Given the description of an element on the screen output the (x, y) to click on. 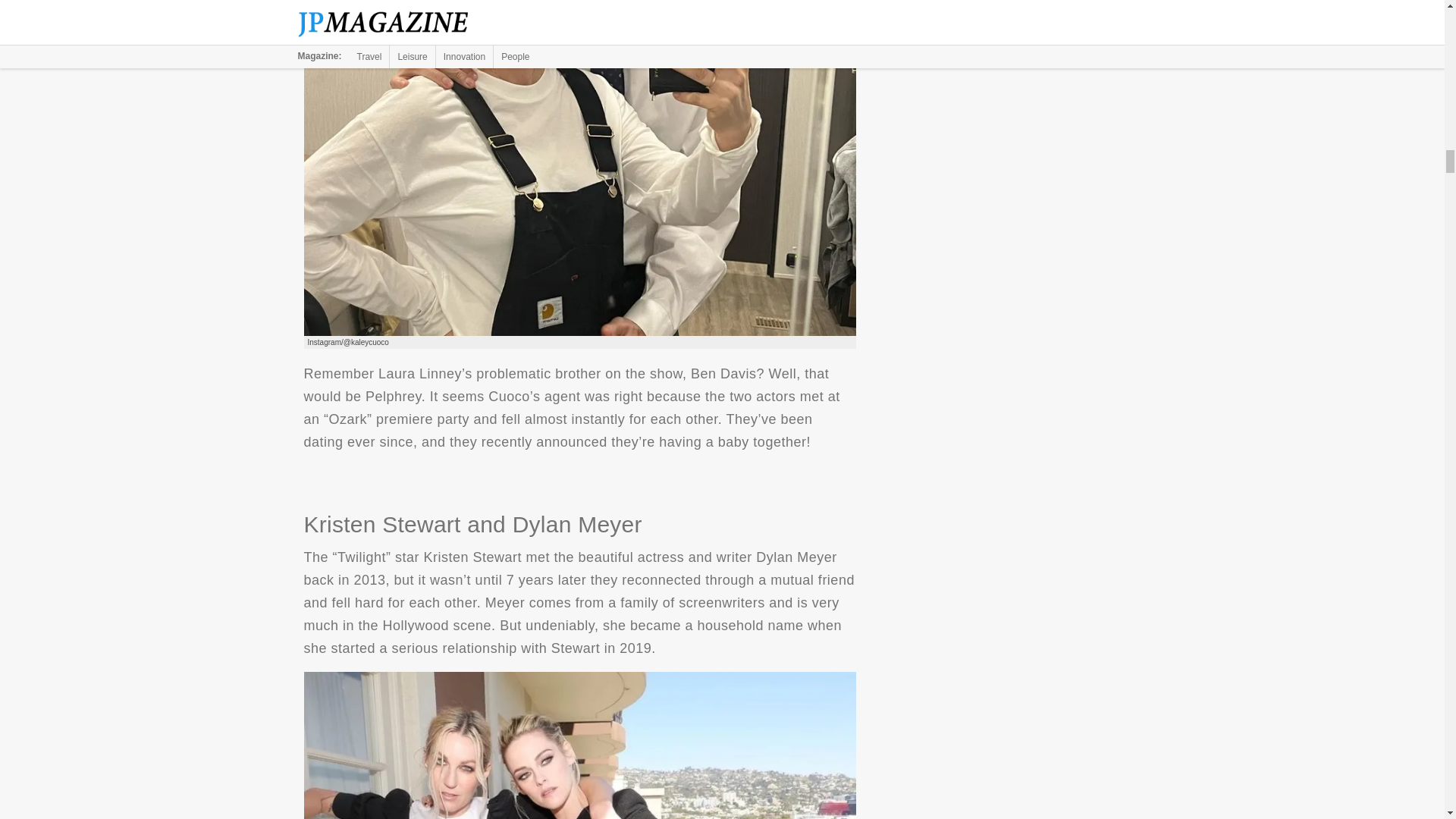
Kristen Stewart and Dylan Meyer (579, 745)
